Given the description of an element on the screen output the (x, y) to click on. 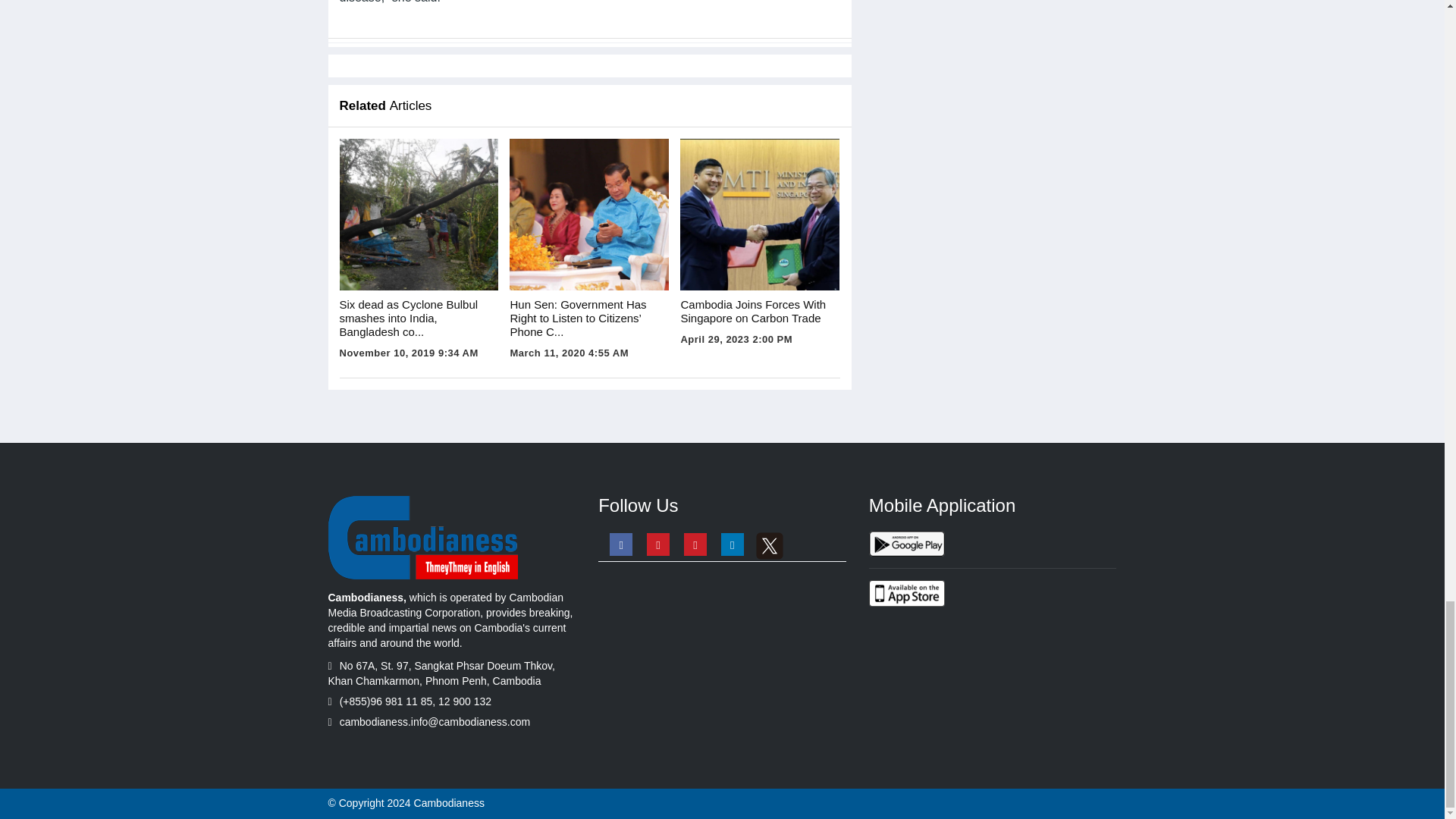
Cambodia Joins Forces With Singapore on Carbon Trade (759, 214)
